Given the description of an element on the screen output the (x, y) to click on. 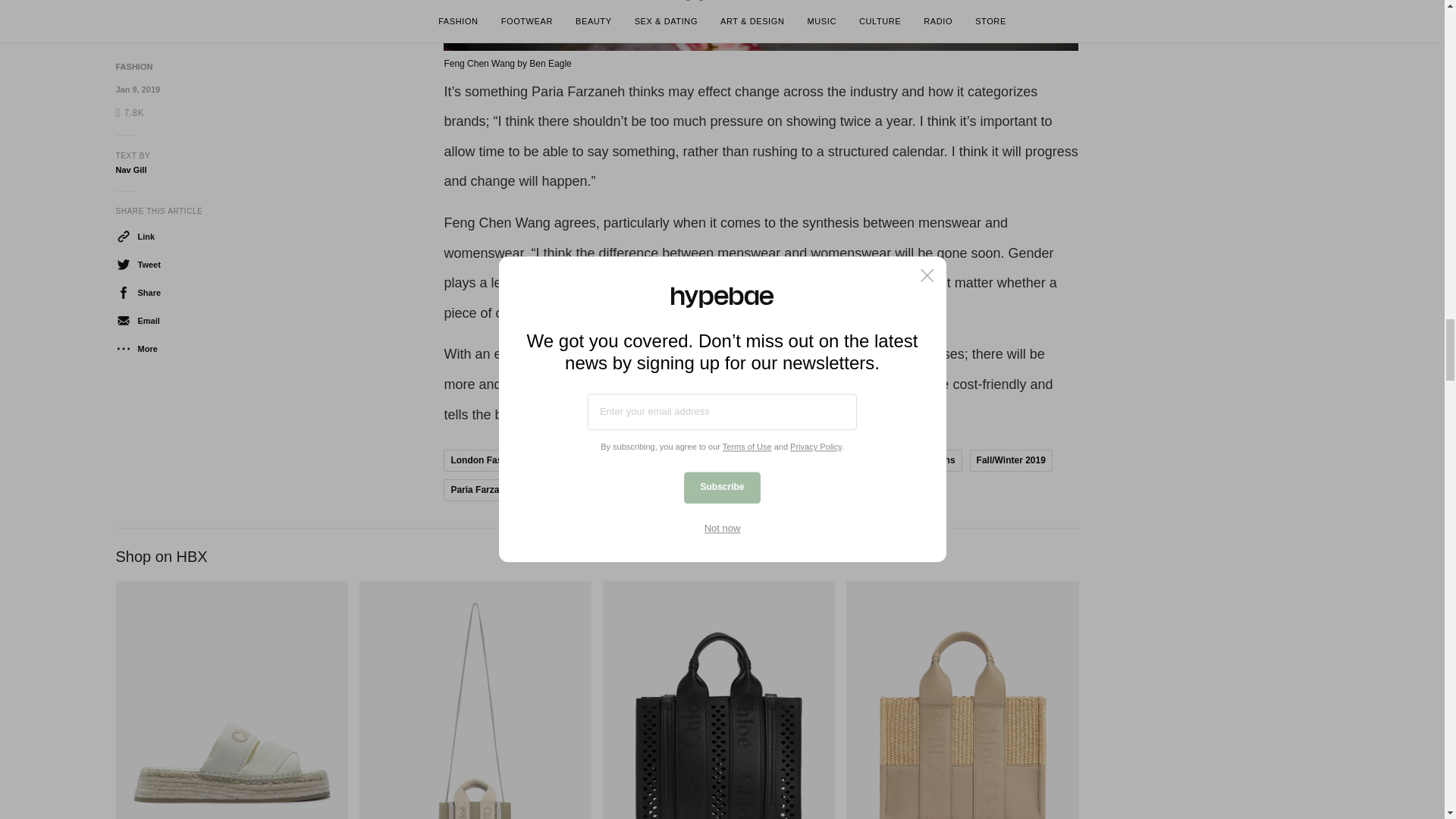
Feng Chen Wang (668, 460)
Converse (589, 460)
Small Woody Tote Bag In Grained Leather (718, 699)
Paria Farzaneh (482, 490)
Converse Chuck 70 (767, 460)
Mila Slide (231, 699)
Small Woody Tote Bag (961, 699)
London Fashion Week (499, 460)
London Fashion Week Mens (893, 460)
